Given the description of an element on the screen output the (x, y) to click on. 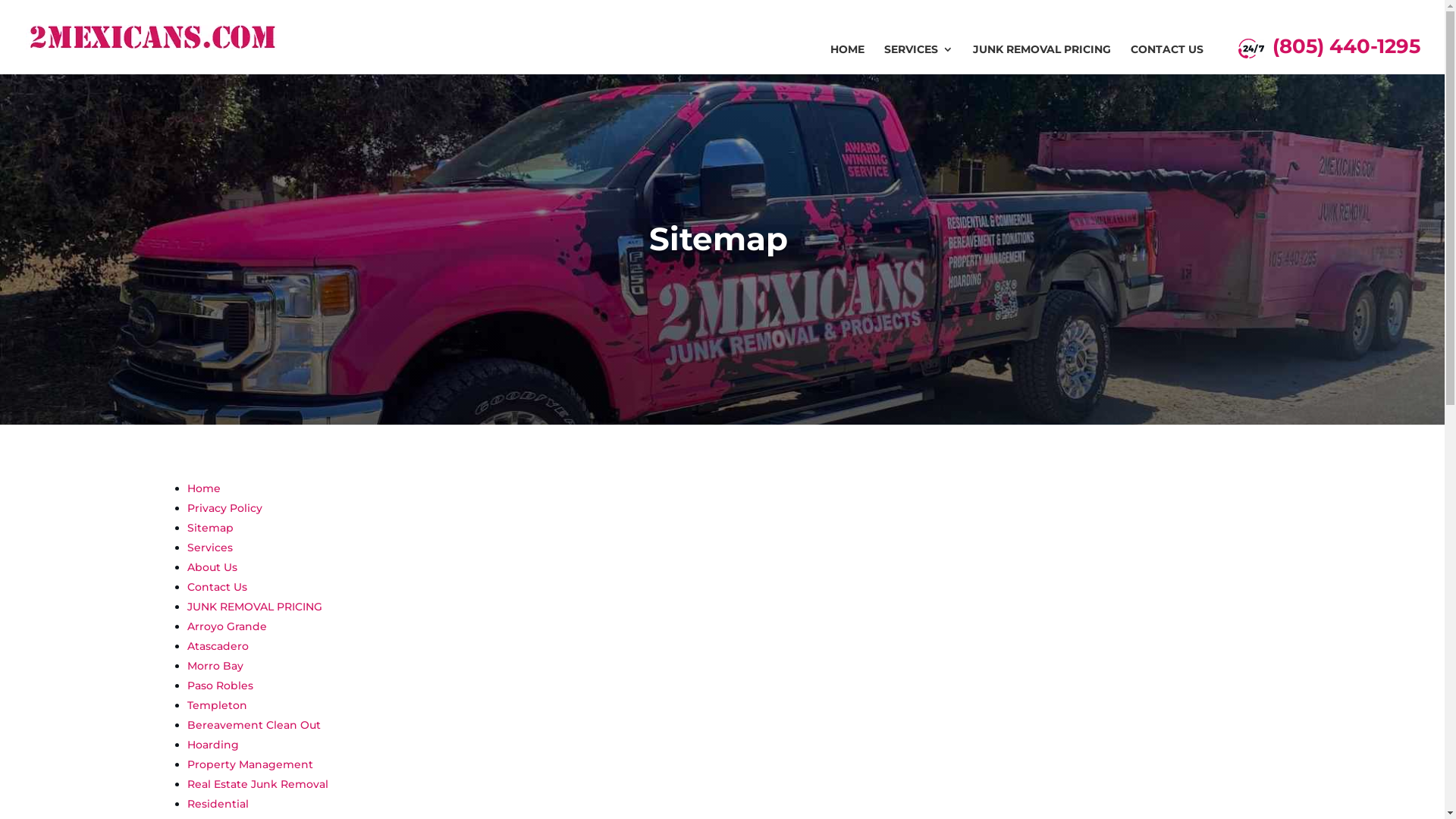
Morro Bay Element type: text (214, 665)
Hoarding Element type: text (212, 744)
Real Estate Junk Removal Element type: text (256, 783)
CONTACT US Element type: text (1166, 58)
JUNK REMOVAL PRICING Element type: text (253, 606)
Arroyo Grande Element type: text (226, 626)
Templeton Element type: text (216, 705)
HOME Element type: text (847, 58)
Bereavement Clean Out Element type: text (253, 724)
Home Element type: text (202, 488)
About Us Element type: text (211, 567)
Paso Robles Element type: text (219, 685)
Call for a FREE Quote
(805) 440-1295 Element type: text (1329, 55)
JUNK REMOVAL PRICING Element type: text (1041, 58)
Residential Element type: text (216, 803)
SERVICES Element type: text (918, 58)
Property Management Element type: text (249, 764)
Atascadero Element type: text (216, 645)
Privacy Policy Element type: text (223, 507)
Contact Us Element type: text (216, 586)
Services Element type: text (209, 547)
Sitemap Element type: text (209, 527)
